Given the description of an element on the screen output the (x, y) to click on. 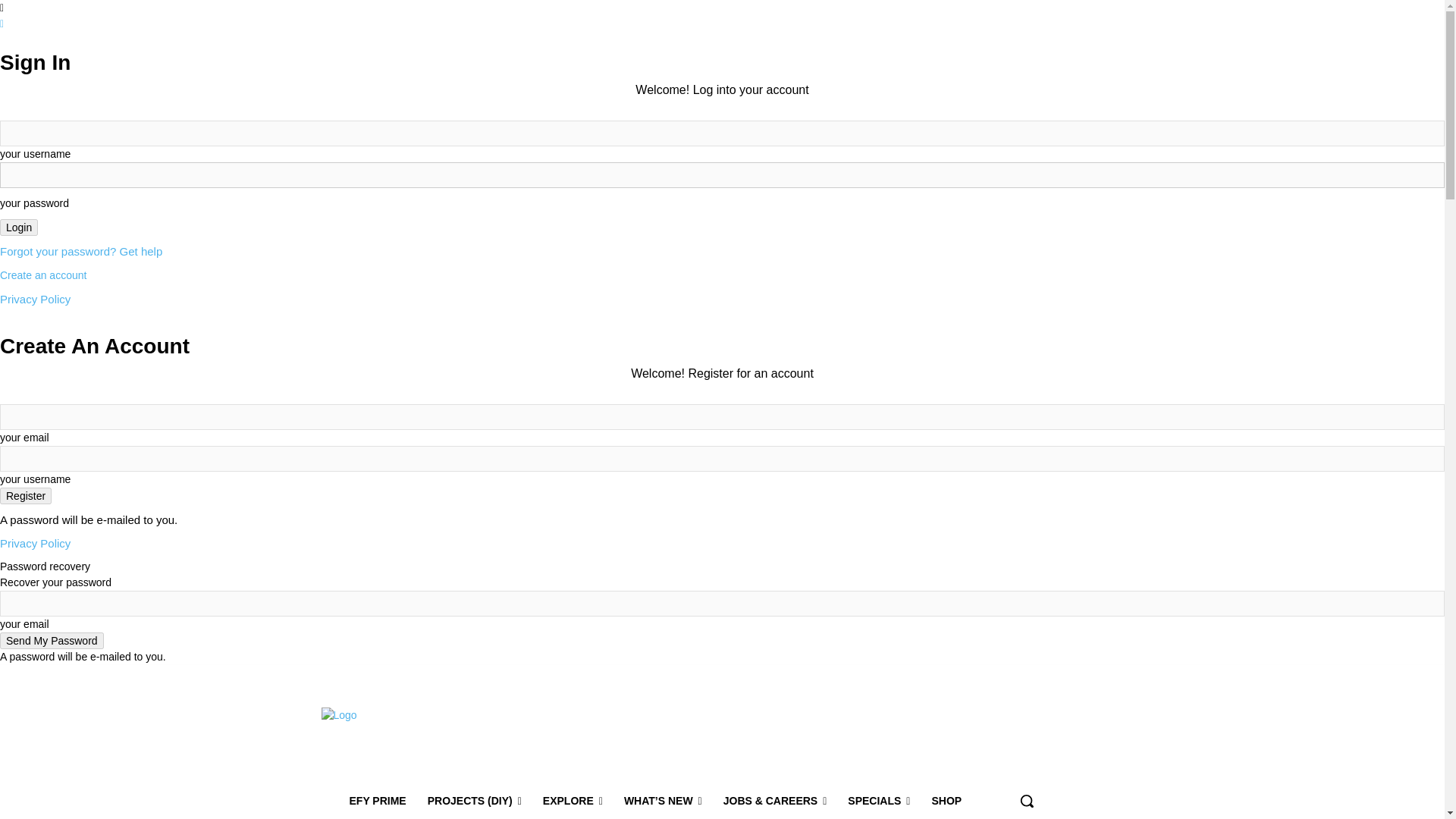
Twitter (953, 675)
Facebook (889, 675)
Send My Password (51, 640)
Login (18, 227)
Instagram (911, 675)
Youtube (975, 675)
Linkedin (931, 675)
Register (25, 495)
